Given the description of an element on the screen output the (x, y) to click on. 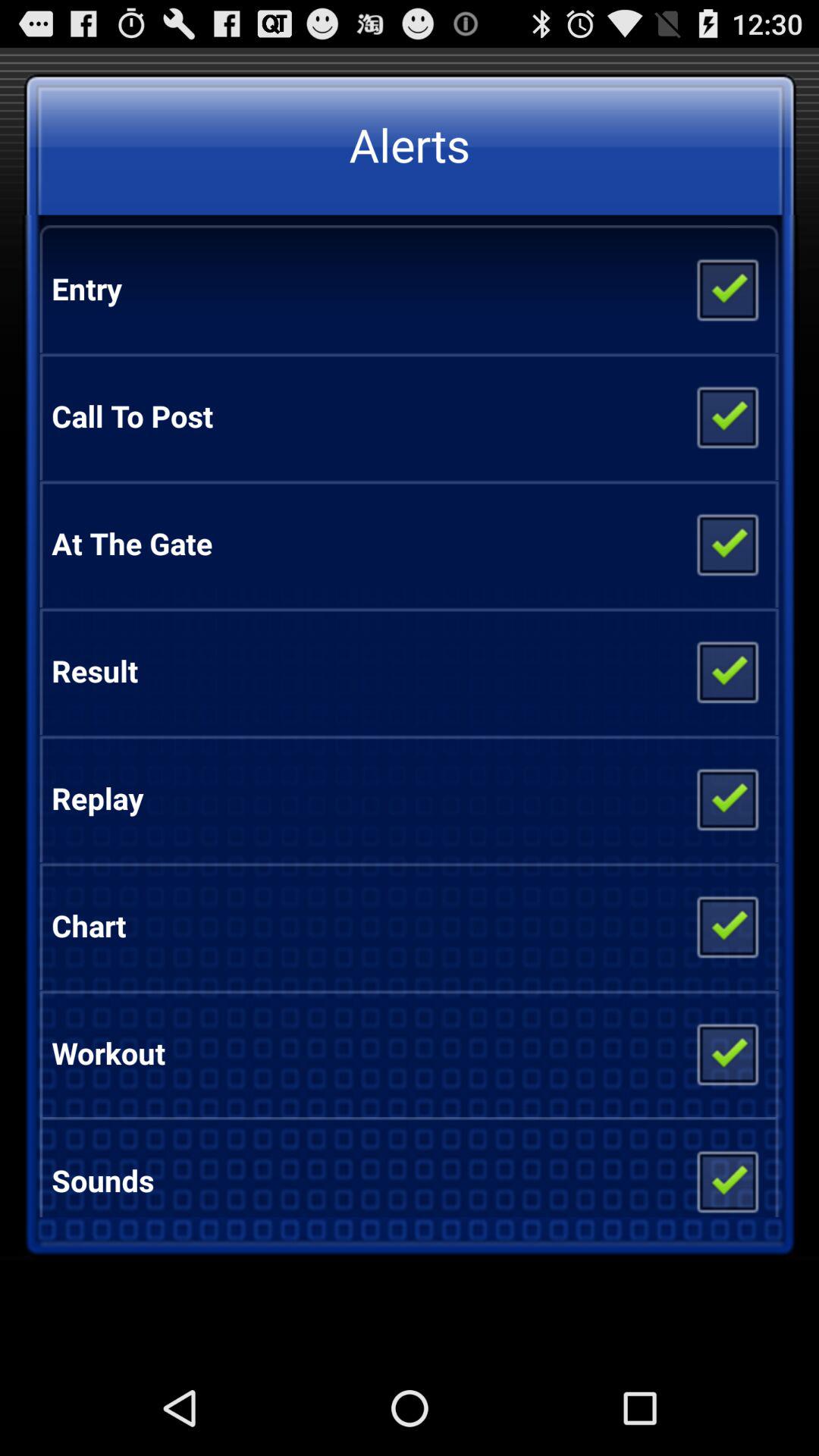
toggle result checkbox (726, 670)
